Given the description of an element on the screen output the (x, y) to click on. 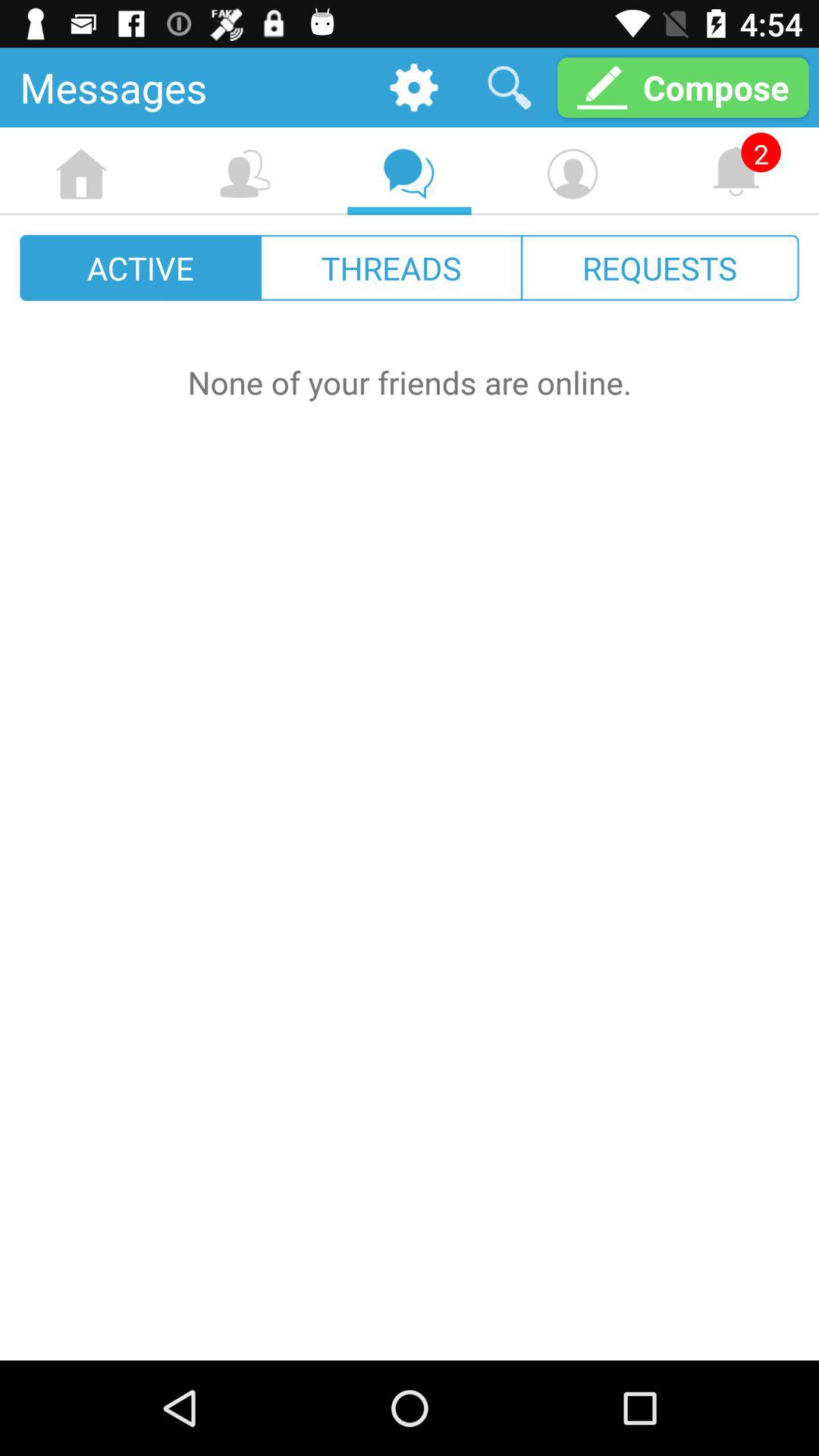
select the item next to the messages (413, 87)
